Given the description of an element on the screen output the (x, y) to click on. 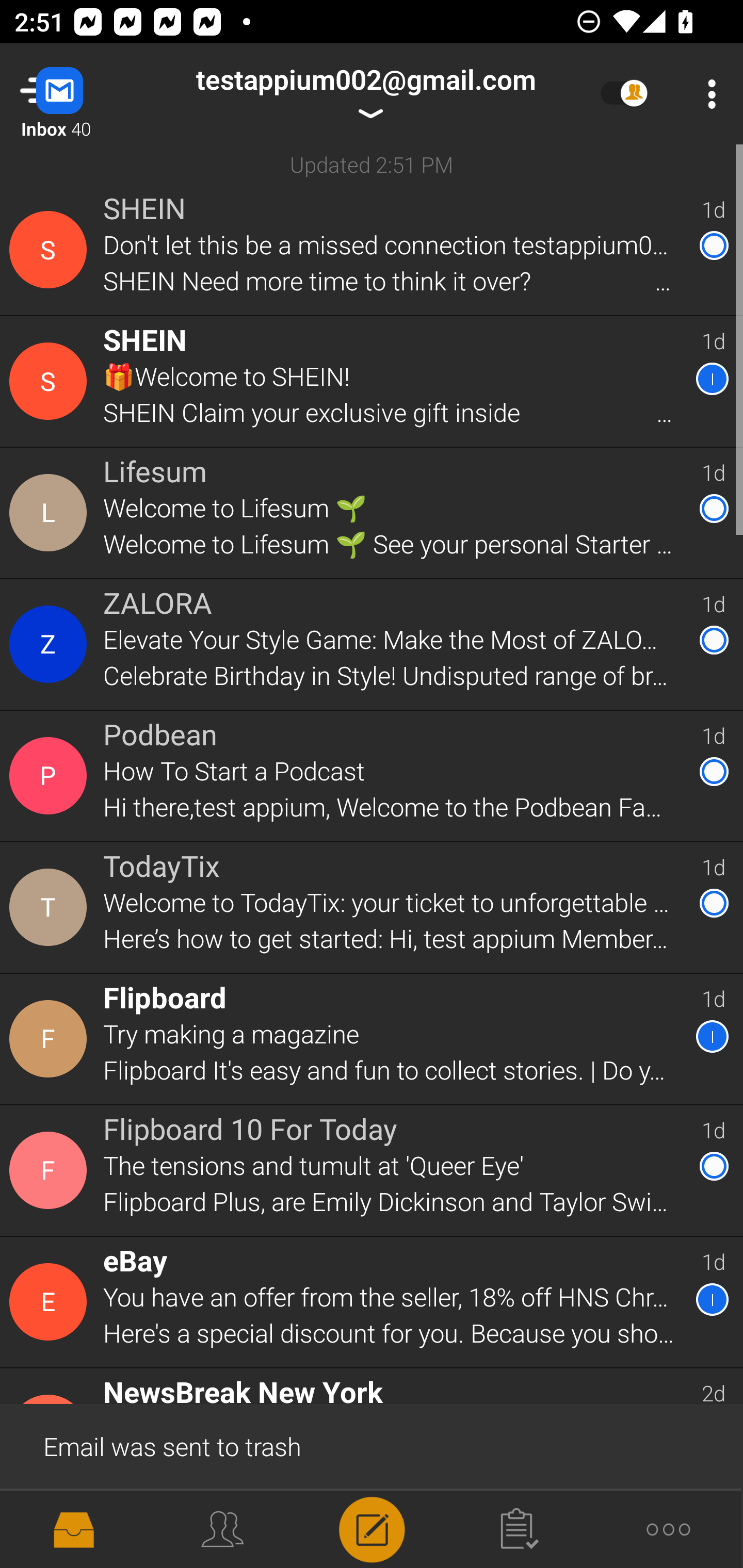
Navigate up (81, 93)
testappium002@gmail.com (365, 93)
More Options (706, 93)
Updated 2:51 PM (371, 164)
Contact Details (50, 250)
Contact Details (50, 381)
Contact Details (50, 513)
Contact Details (50, 644)
Contact Details (50, 776)
Contact Details (50, 907)
Contact Details (50, 1038)
Contact Details (50, 1170)
Contact Details (50, 1302)
Email was sent to trash (371, 1445)
